Given the description of an element on the screen output the (x, y) to click on. 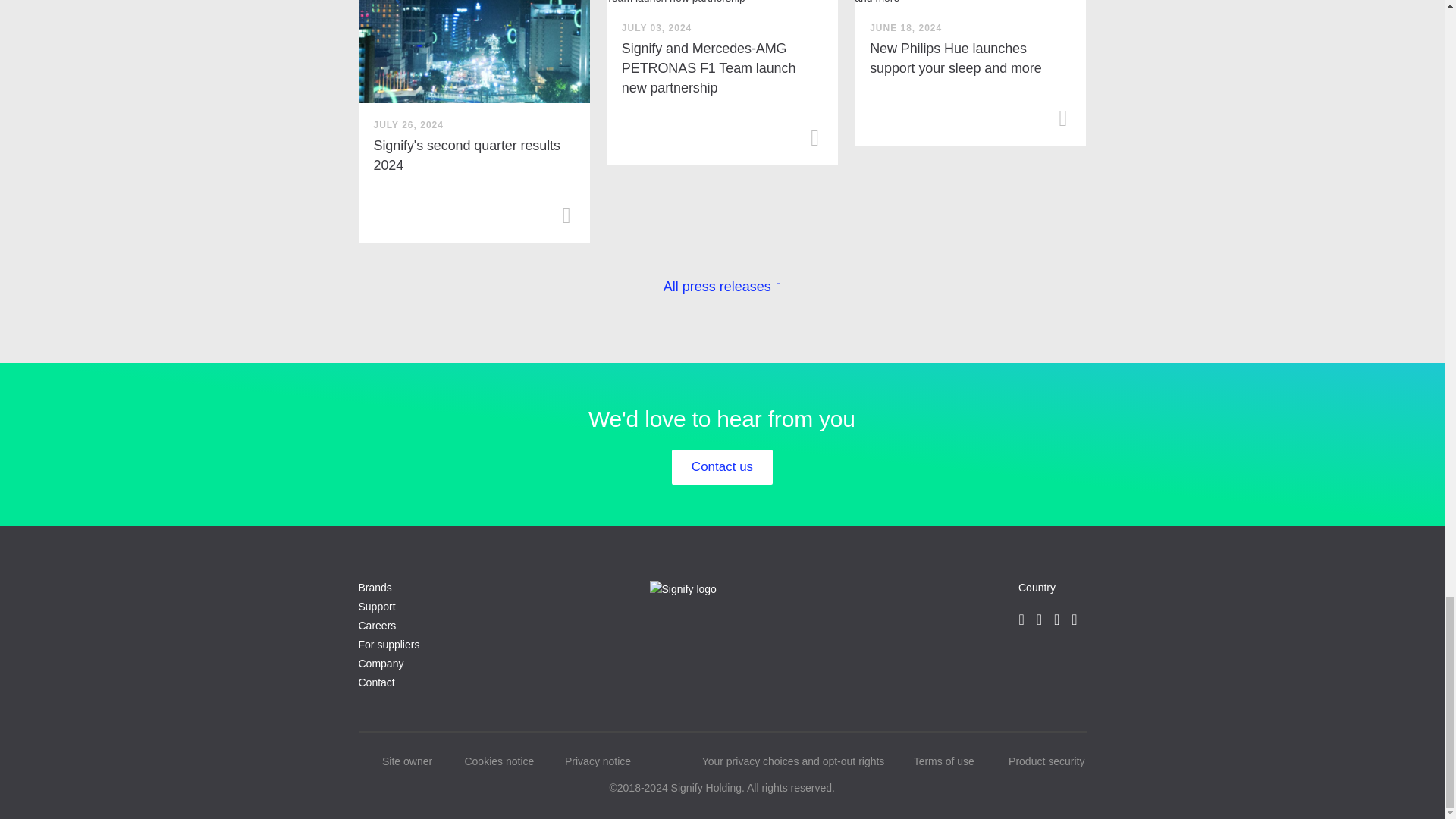
Contact us (722, 466)
